Given the description of an element on the screen output the (x, y) to click on. 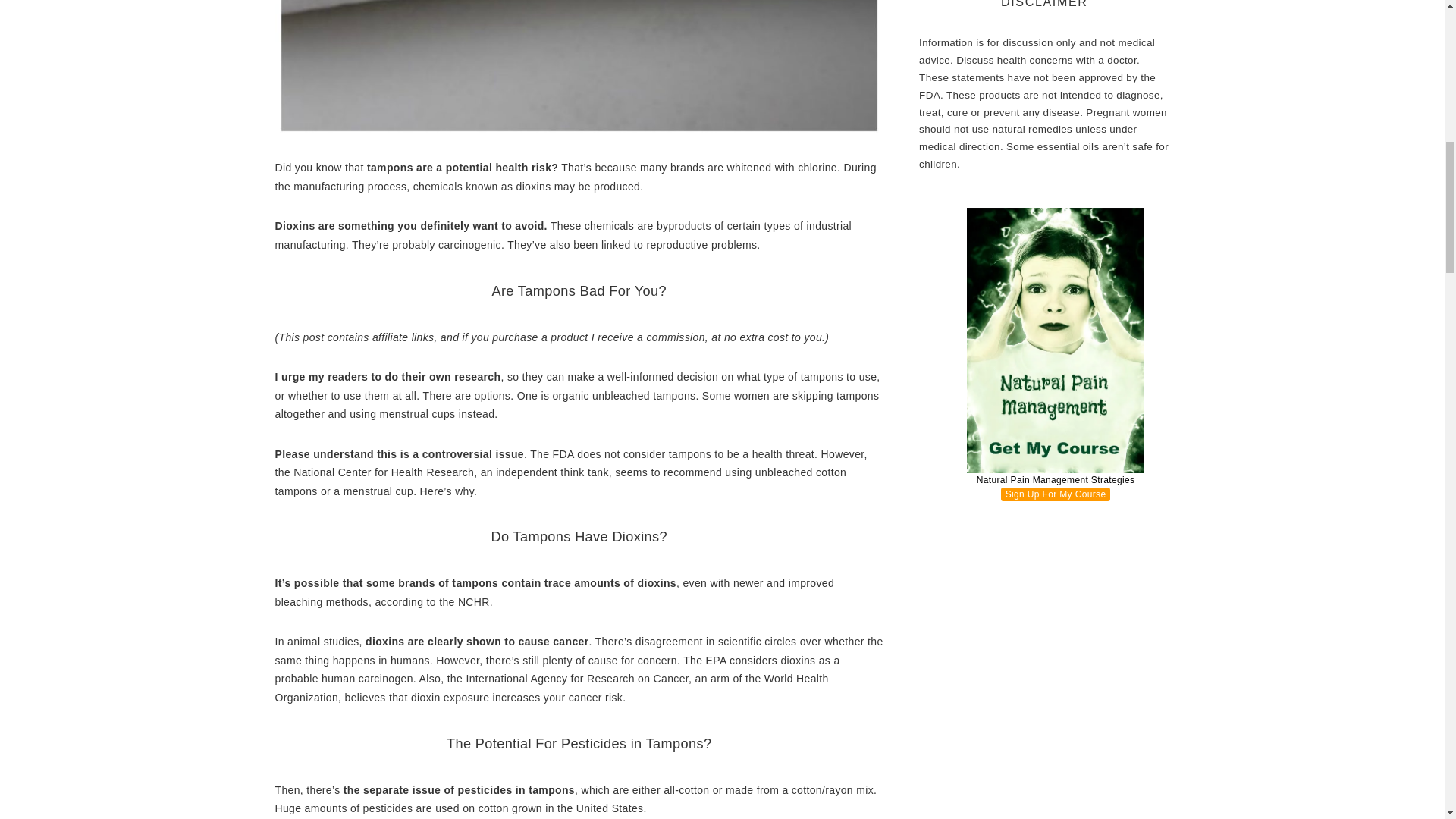
Natural Pain Management Strategies (1055, 357)
